Given the description of an element on the screen output the (x, y) to click on. 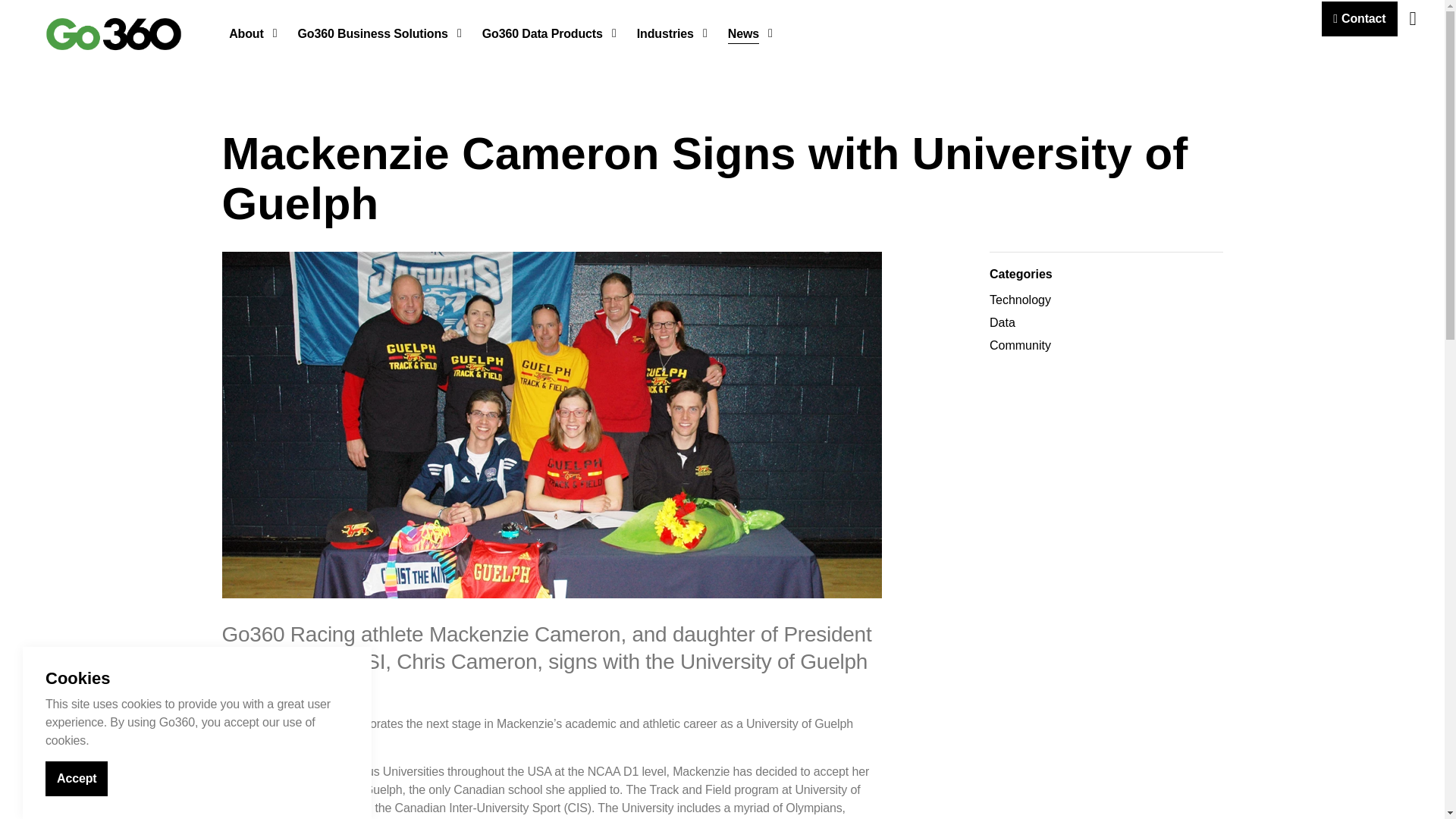
About (250, 33)
Skip to main content (722, 16)
Go360 Business Solutions (378, 33)
Industries (671, 33)
Go360 Data Products (548, 33)
Go360 Business Solutions (113, 33)
